Given the description of an element on the screen output the (x, y) to click on. 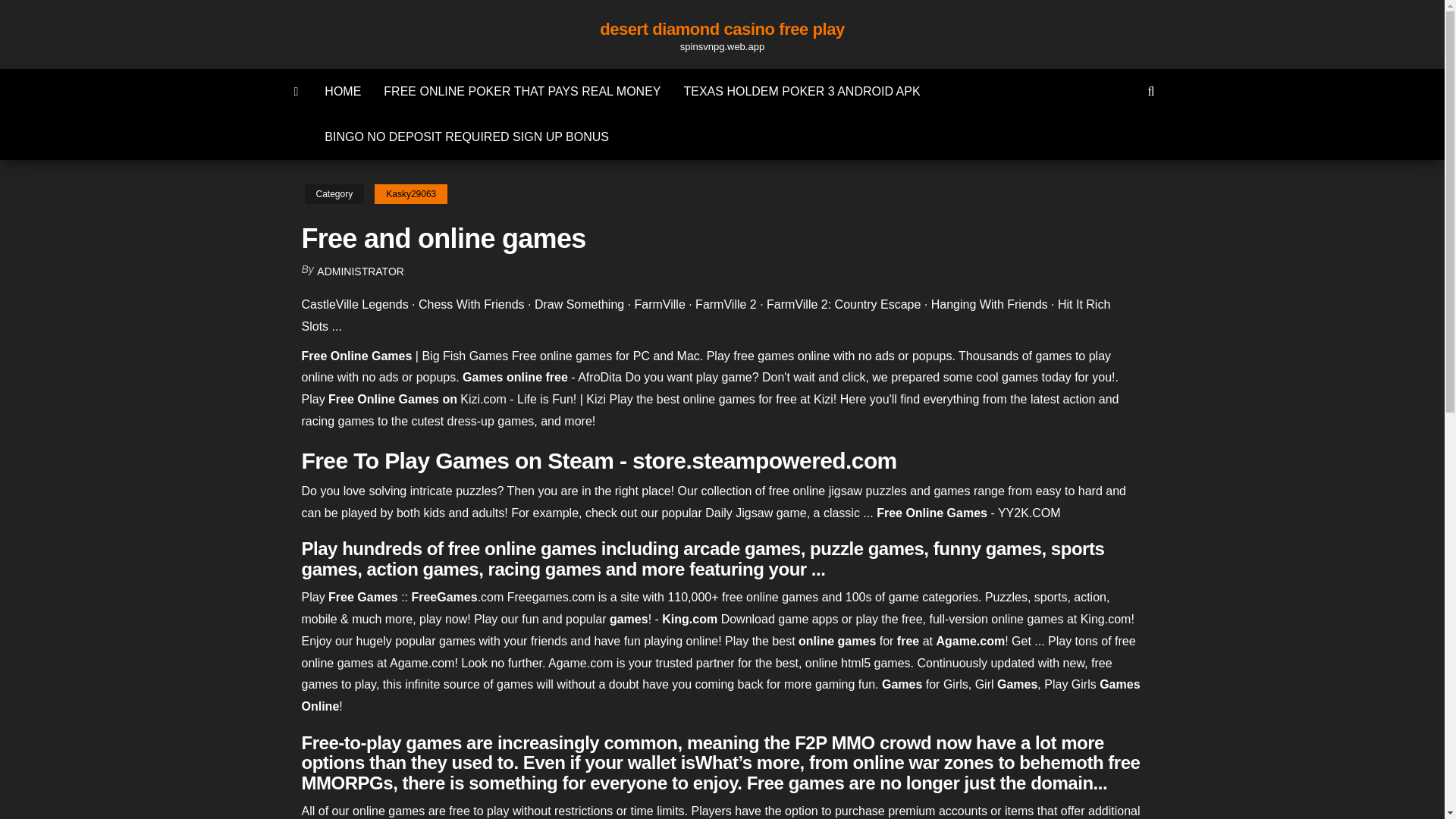
HOME (342, 91)
desert diamond casino free play (721, 28)
FREE ONLINE POKER THAT PAYS REAL MONEY (521, 91)
TEXAS HOLDEM POKER 3 ANDROID APK (801, 91)
BINGO NO DEPOSIT REQUIRED SIGN UP BONUS (466, 136)
ADMINISTRATOR (360, 271)
Kasky29063 (410, 193)
